Given the description of an element on the screen output the (x, y) to click on. 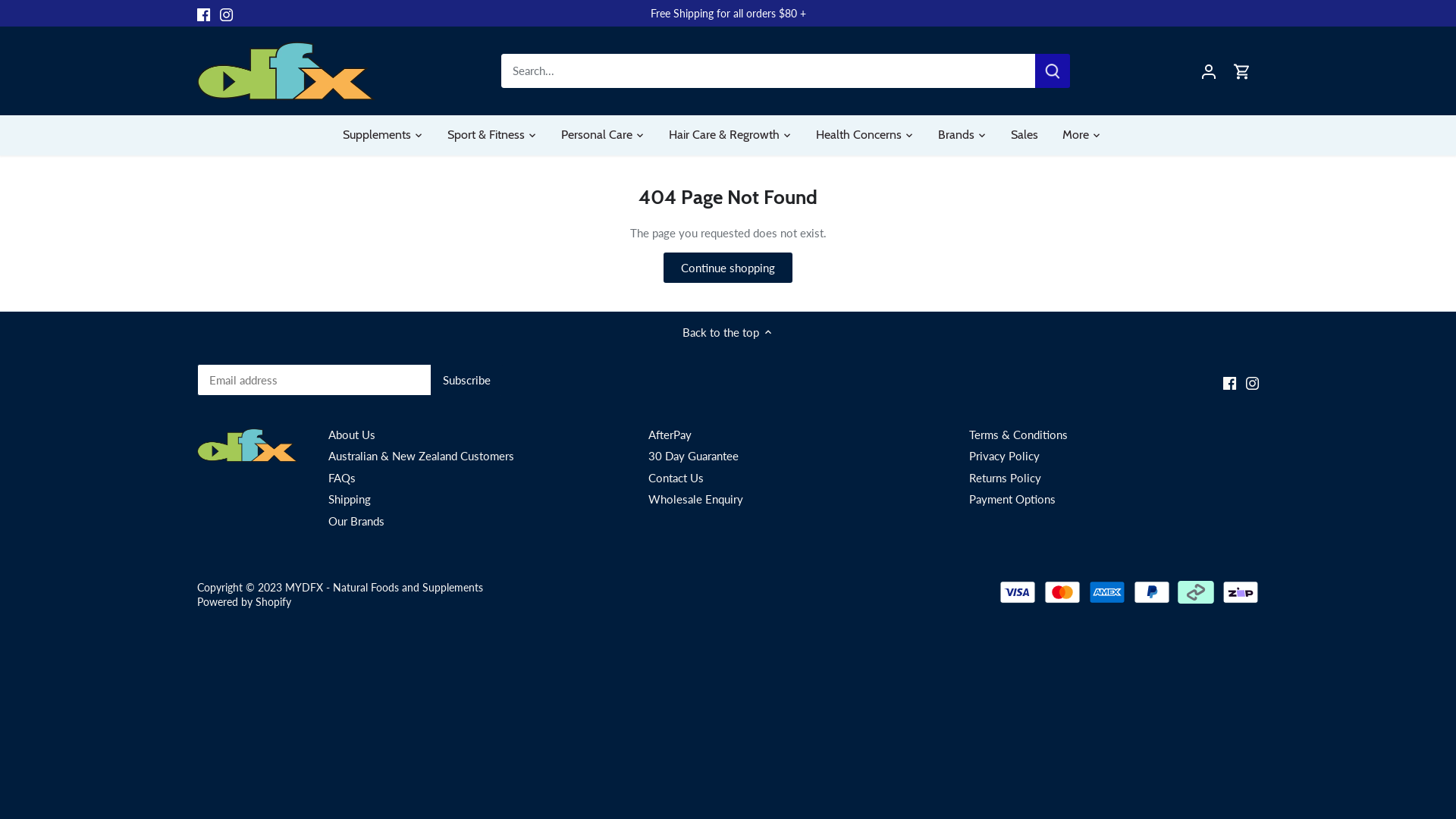
Supplements Element type: text (382, 135)
Payment Options Element type: text (1012, 499)
Continue shopping Element type: text (727, 267)
About Us Element type: text (351, 434)
Brands Element type: text (955, 135)
More Element type: text (1075, 135)
Facebook Element type: text (203, 13)
Returns Policy Element type: text (1005, 477)
Powered by Shopify Element type: text (244, 602)
Subscribe Element type: text (466, 379)
Instagram Element type: text (1251, 381)
Instagram Element type: text (225, 13)
MYDFX - Natural Foods and Supplements Element type: text (384, 587)
30 Day Guarantee Element type: text (693, 455)
Terms & Conditions Element type: text (1018, 434)
Go to cart Element type: hover (1242, 70)
Privacy Policy Element type: text (1004, 455)
Sales Element type: text (1024, 135)
Back to the top Element type: text (728, 332)
Sport & Fitness Element type: text (485, 135)
Facebook Element type: text (1229, 381)
Shipping Element type: text (349, 499)
Hair Care & Regrowth Element type: text (723, 135)
Contact Us Element type: text (675, 477)
Health Concerns Element type: text (858, 135)
Our Brands Element type: text (356, 521)
Personal Care Element type: text (596, 135)
Wholesale Enquiry Element type: text (695, 499)
Australian & New Zealand Customers Element type: text (421, 455)
FAQs Element type: text (341, 477)
AfterPay Element type: text (669, 434)
